Given the description of an element on the screen output the (x, y) to click on. 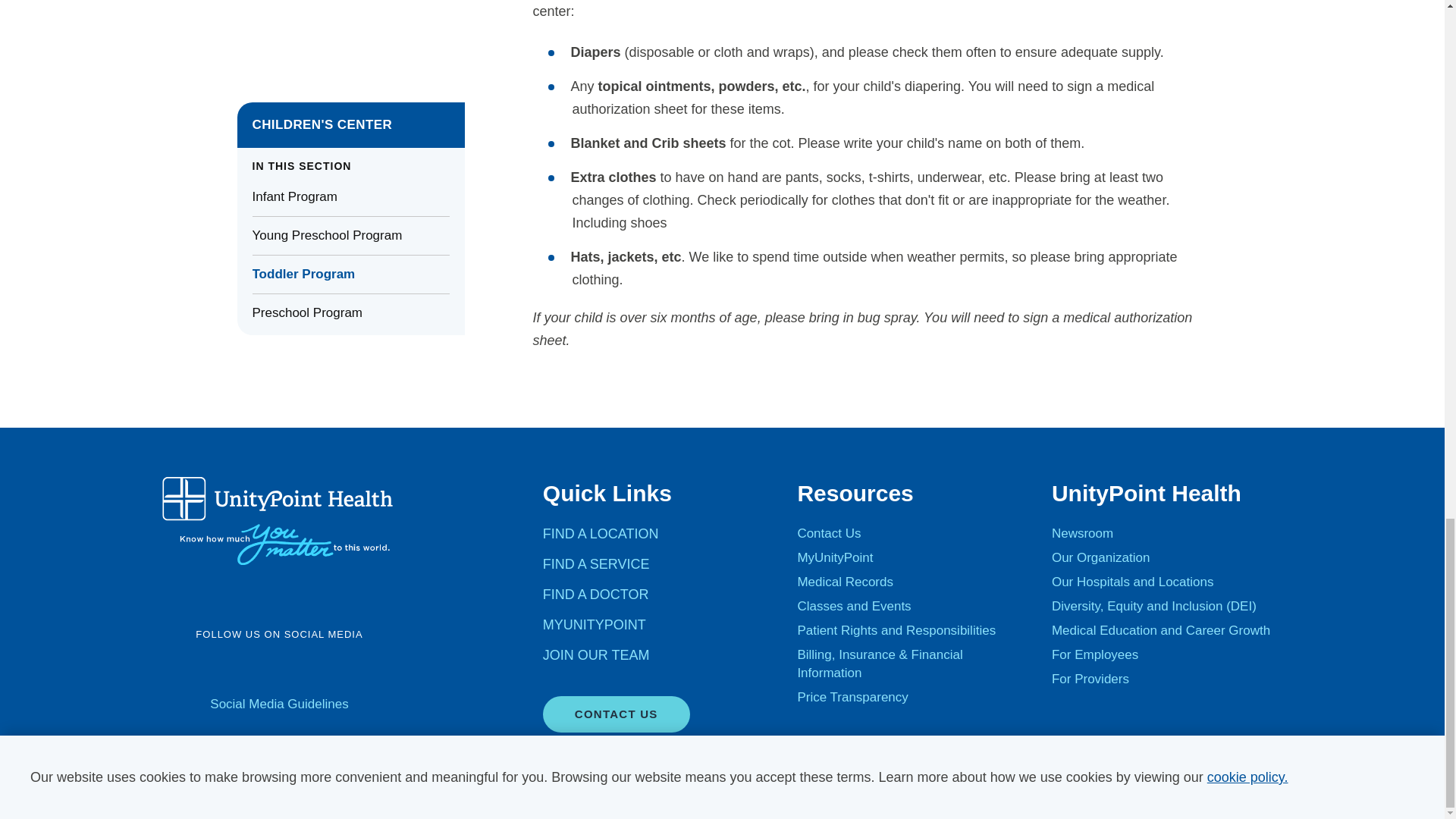
Instagram (299, 669)
Facebook (179, 669)
Twitter (220, 669)
YouTube (259, 669)
Linkedin (338, 669)
Pinterest (377, 669)
